Given the description of an element on the screen output the (x, y) to click on. 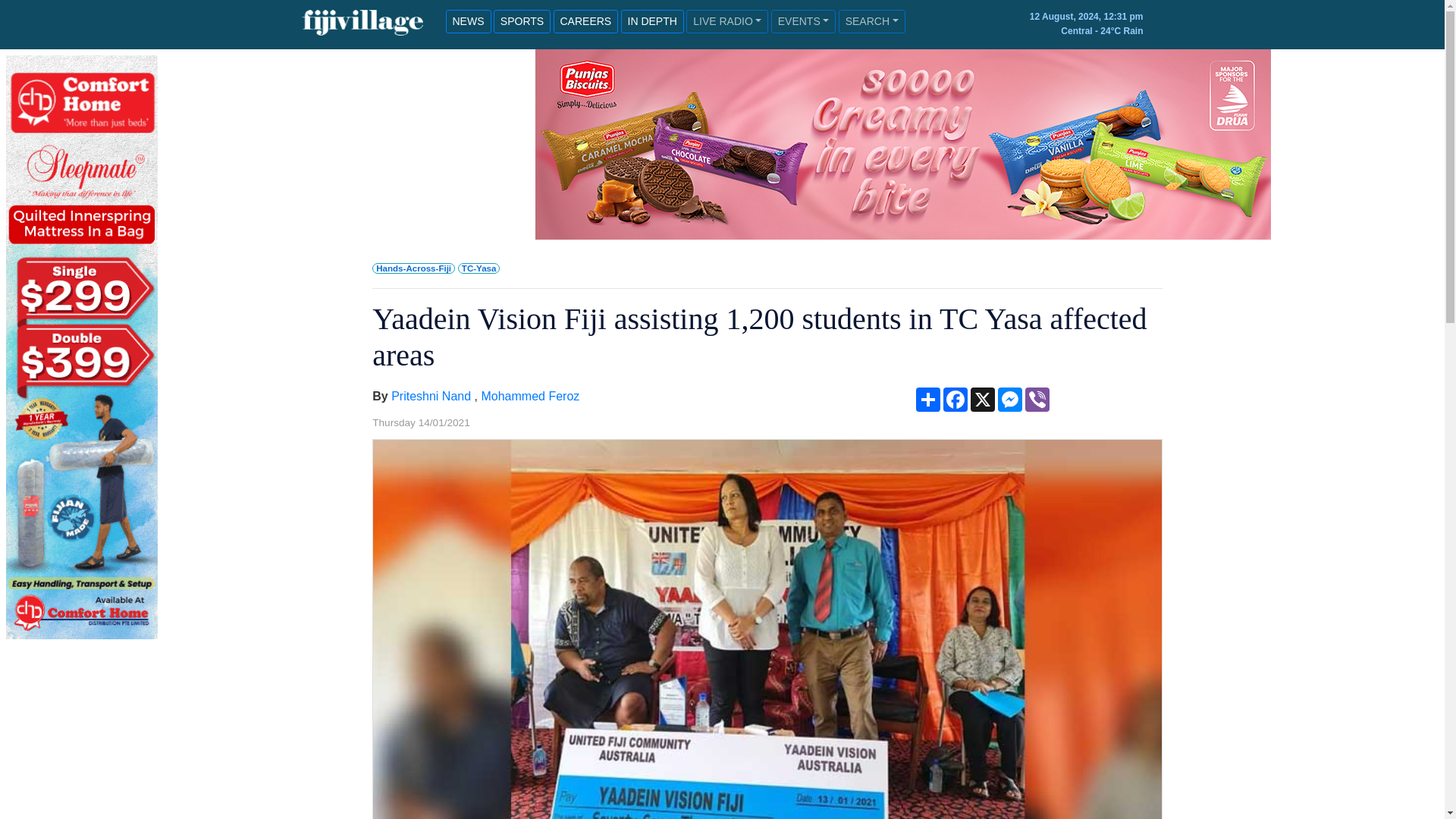
EVENTS (803, 21)
NEWS (468, 21)
CAREERS (585, 21)
SPORTS (521, 21)
LIVE RADIO (726, 21)
IN DEPTH (652, 21)
